Given the description of an element on the screen output the (x, y) to click on. 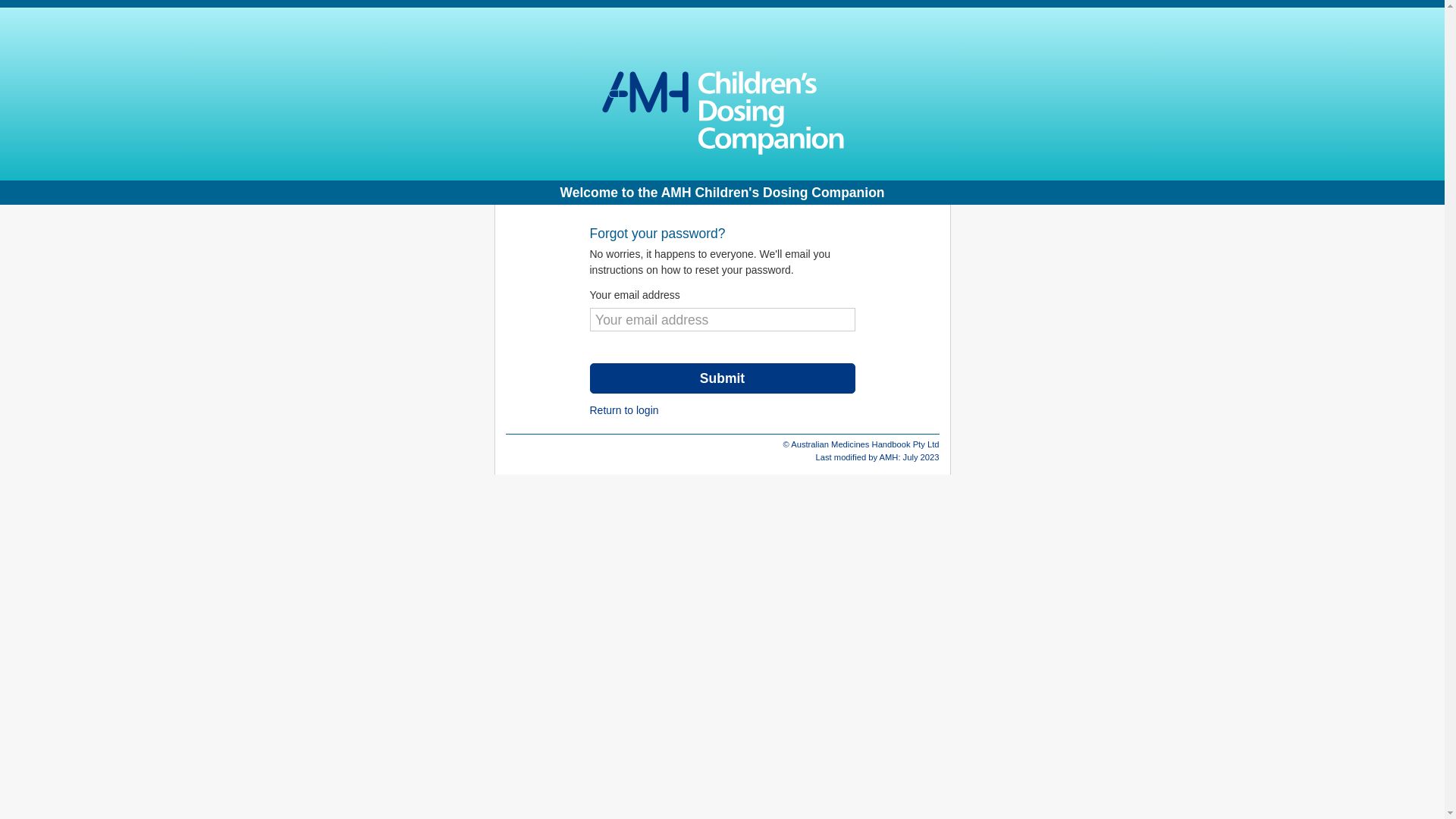
Return to login Element type: text (623, 410)
Submit Element type: text (722, 378)
